Given the description of an element on the screen output the (x, y) to click on. 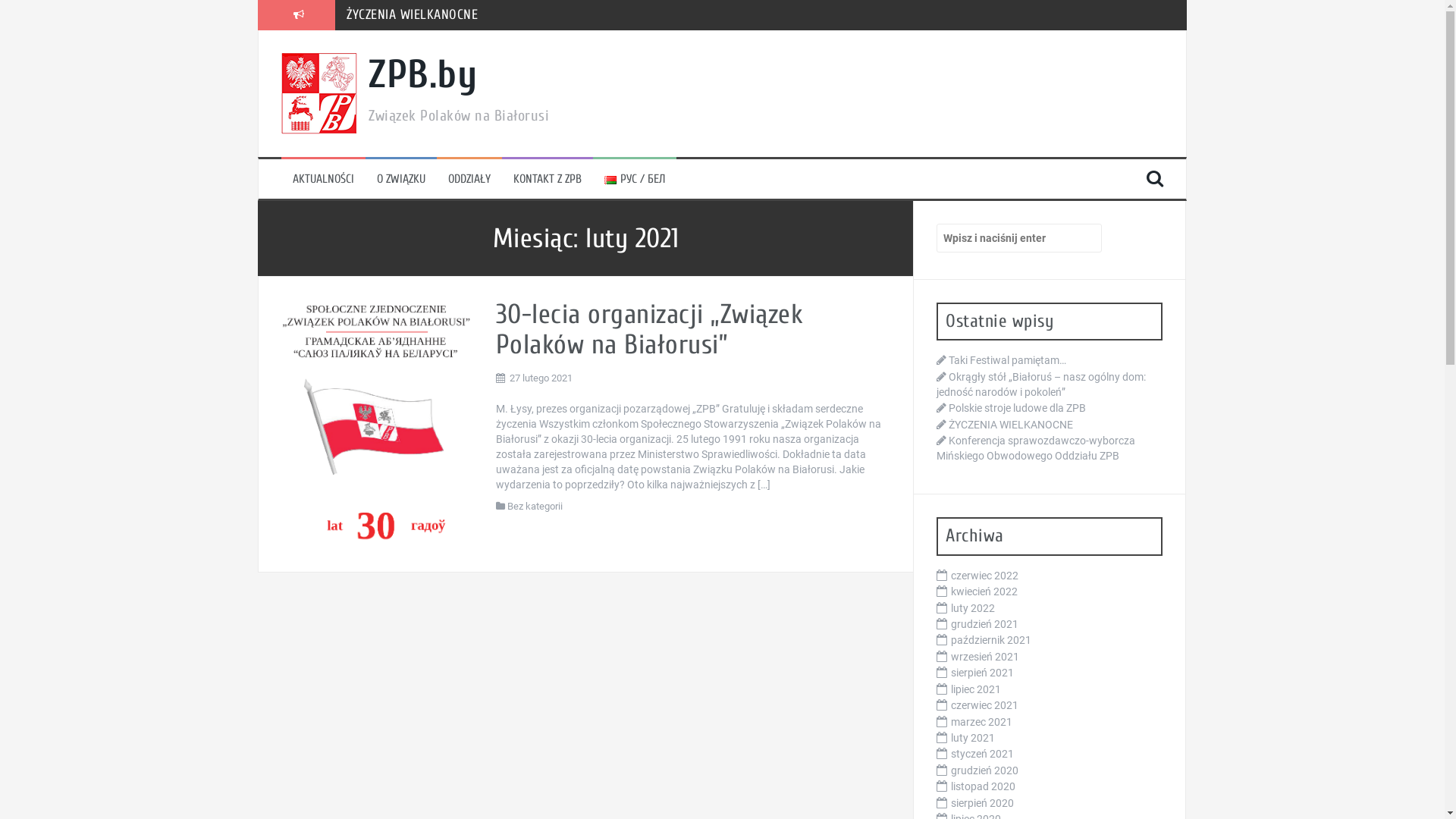
Bez kategorii Element type: text (534, 505)
Polskie stroje ludowe dla ZPB Element type: text (1016, 407)
czerwiec 2021 Element type: text (984, 705)
Polskie stroje ludowe dla ZPB Element type: text (427, 14)
lipiec 2021 Element type: text (975, 689)
27 lutego 2021 Element type: text (540, 377)
marzec 2021 Element type: text (981, 721)
ZPB.by Element type: text (422, 74)
luty 2022 Element type: text (972, 608)
czerwiec 2022 Element type: text (984, 575)
Szukaj: Element type: hover (1018, 237)
KONTAKT Z ZPB Element type: text (547, 179)
listopad 2020 Element type: text (982, 786)
luty 2021 Element type: text (972, 737)
